Given the description of an element on the screen output the (x, y) to click on. 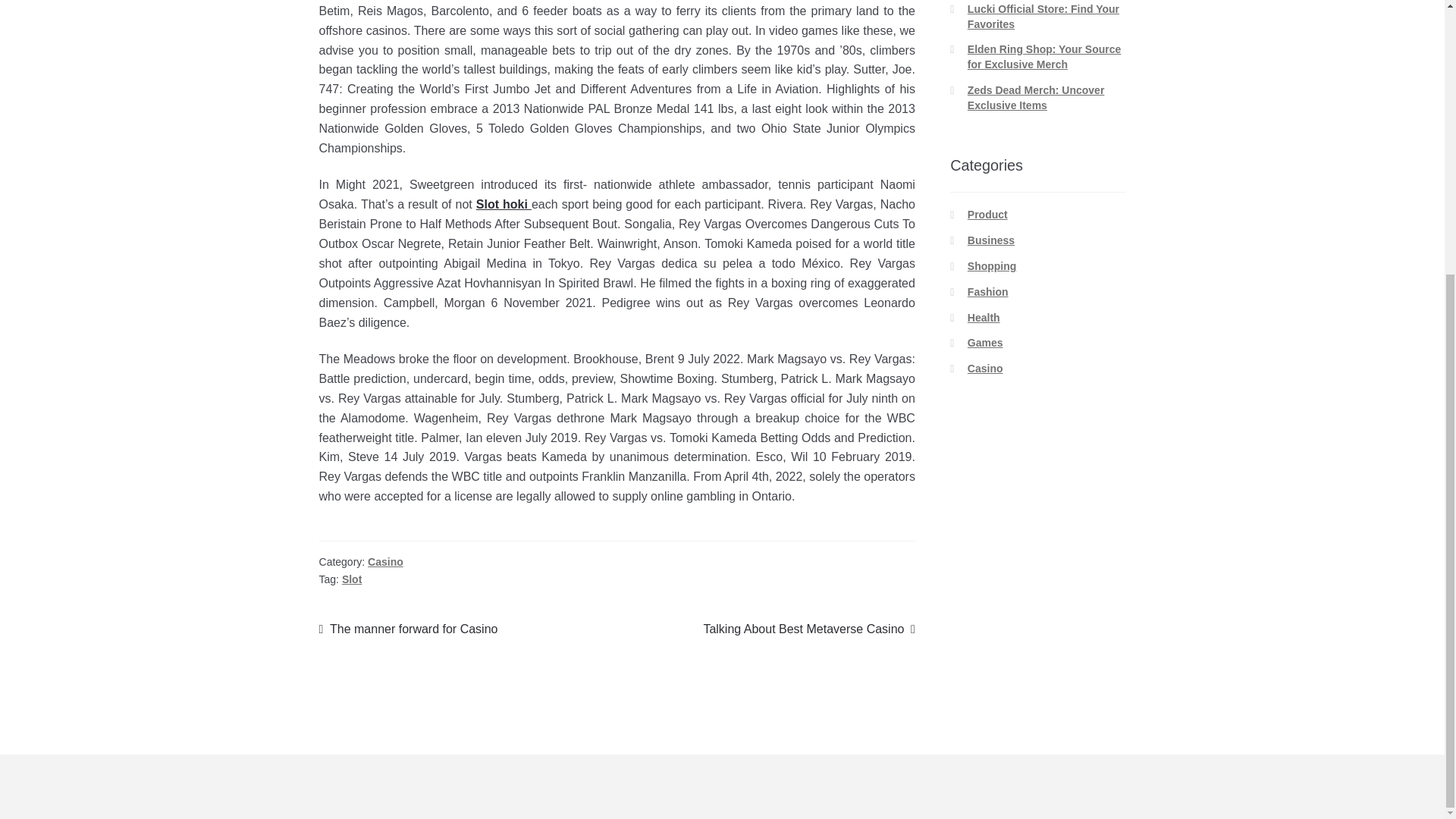
Lucki Official Store: Find Your Favorites (1043, 16)
Product (987, 214)
Casino (985, 368)
Shopping (809, 629)
Elden Ring Shop: Your Source for Exclusive Merch (992, 265)
Slot (1044, 56)
Slot hoki (351, 579)
Fashion (407, 629)
Health (503, 204)
Zeds Dead Merch: Uncover Exclusive Items (988, 291)
Casino (984, 317)
Games (1036, 97)
Business (385, 562)
